Given the description of an element on the screen output the (x, y) to click on. 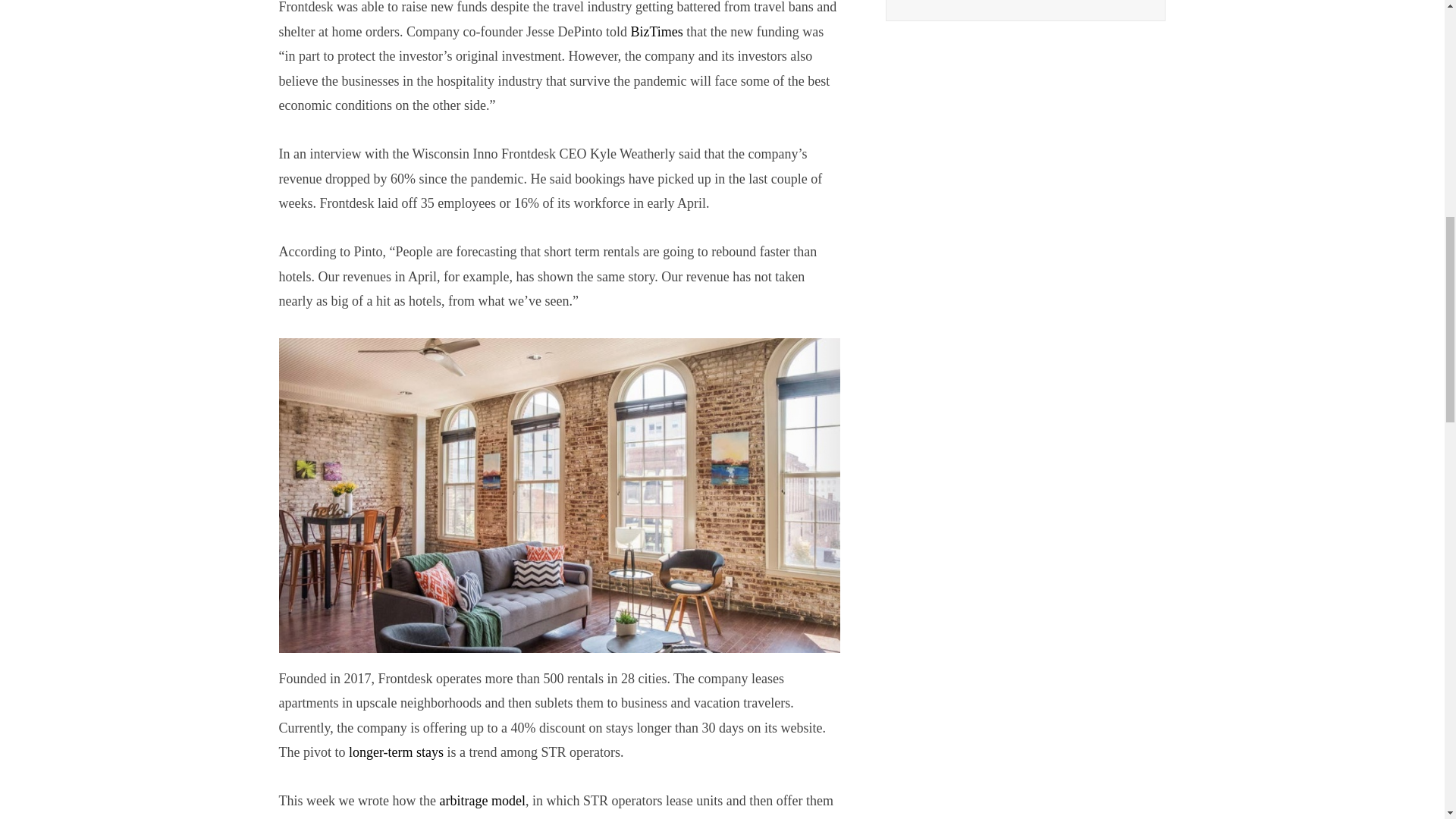
longer-term stays (396, 752)
BizTimes (656, 31)
arbitrage model (481, 800)
